Given the description of an element on the screen output the (x, y) to click on. 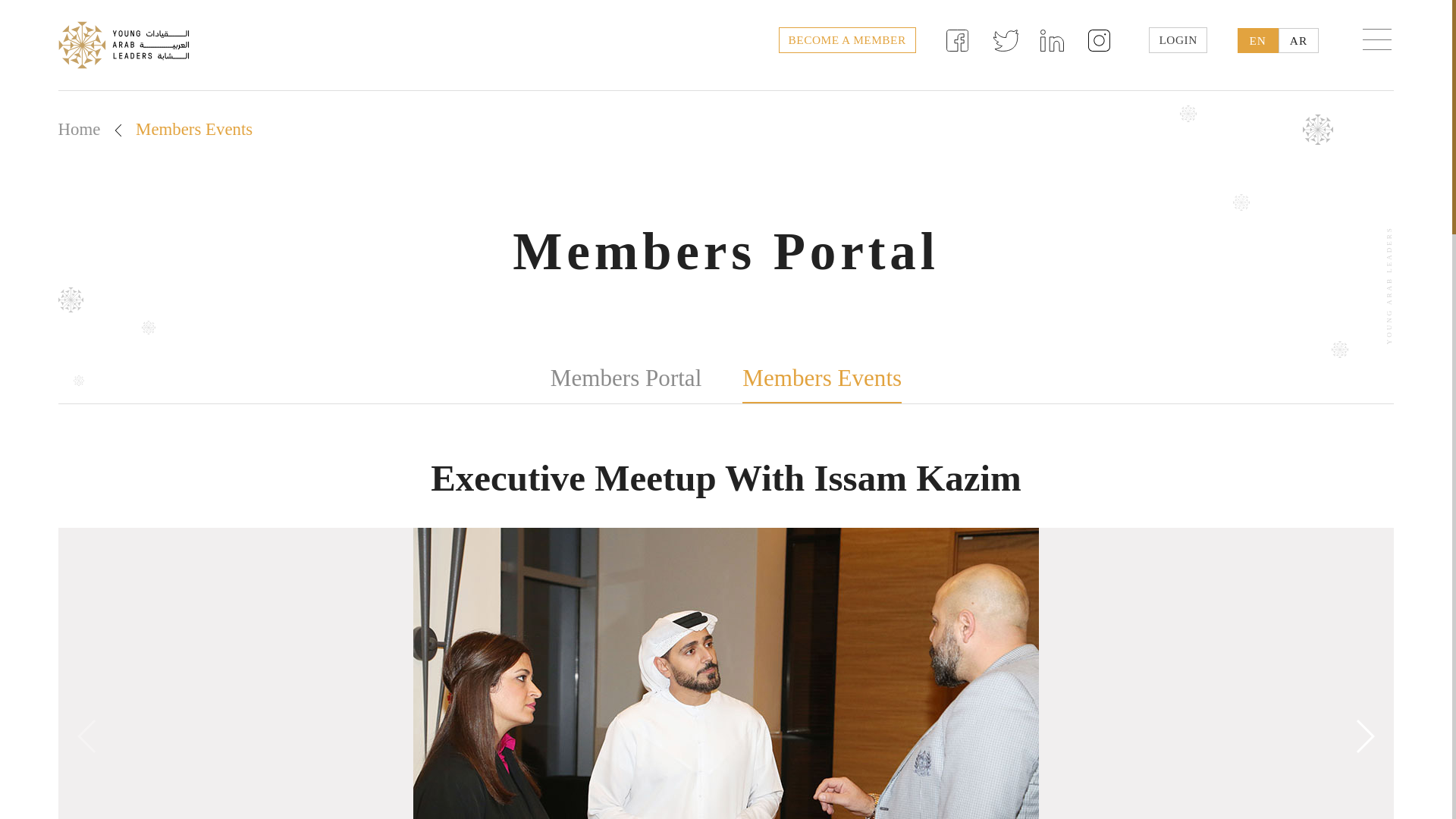
EN (1257, 40)
LOGIN (1177, 39)
Members Events (193, 128)
Members Events (821, 378)
AR (1298, 40)
Members Portal (625, 377)
Home (79, 128)
BECOME A MEMBER (846, 39)
